Given the description of an element on the screen output the (x, y) to click on. 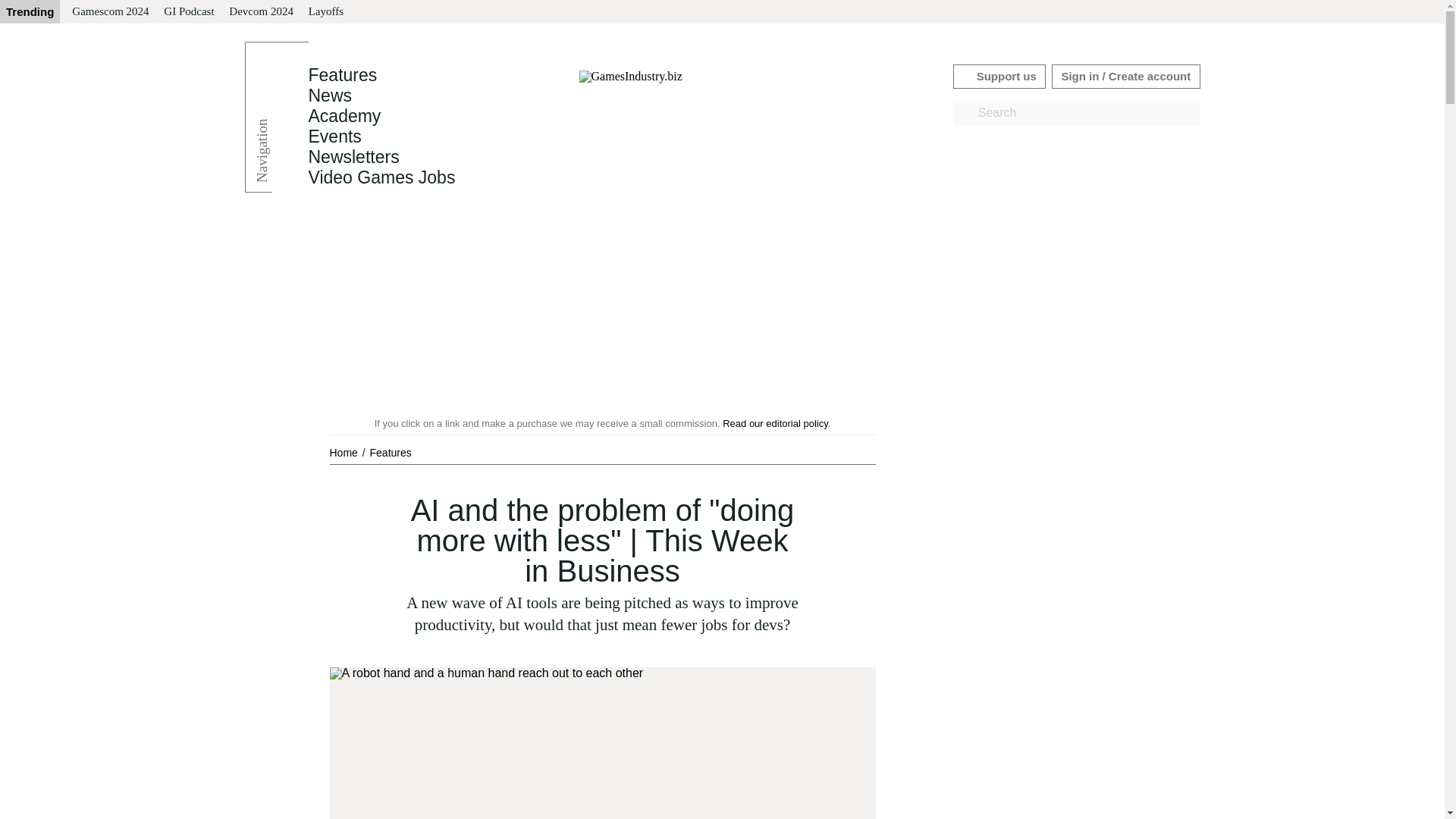
Video Games Jobs (380, 177)
Gamescom 2024 (109, 11)
Layoffs (325, 11)
Features (390, 452)
Devcom 2024 (260, 11)
Support us (999, 75)
Features (342, 75)
Academy (343, 116)
Devcom 2024 (260, 11)
News (329, 95)
